Given the description of an element on the screen output the (x, y) to click on. 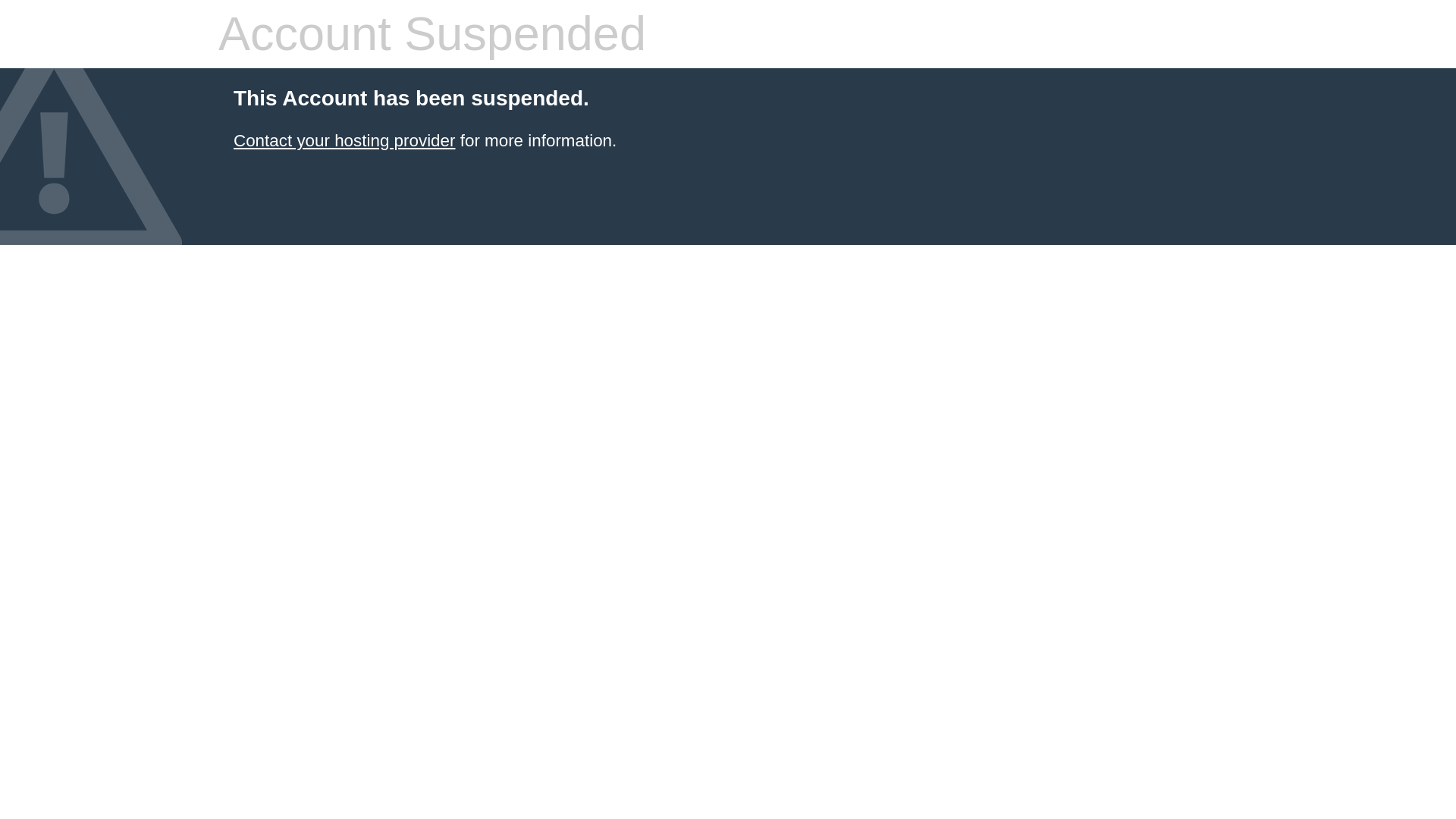
Contact your hosting provider (343, 140)
